Given the description of an element on the screen output the (x, y) to click on. 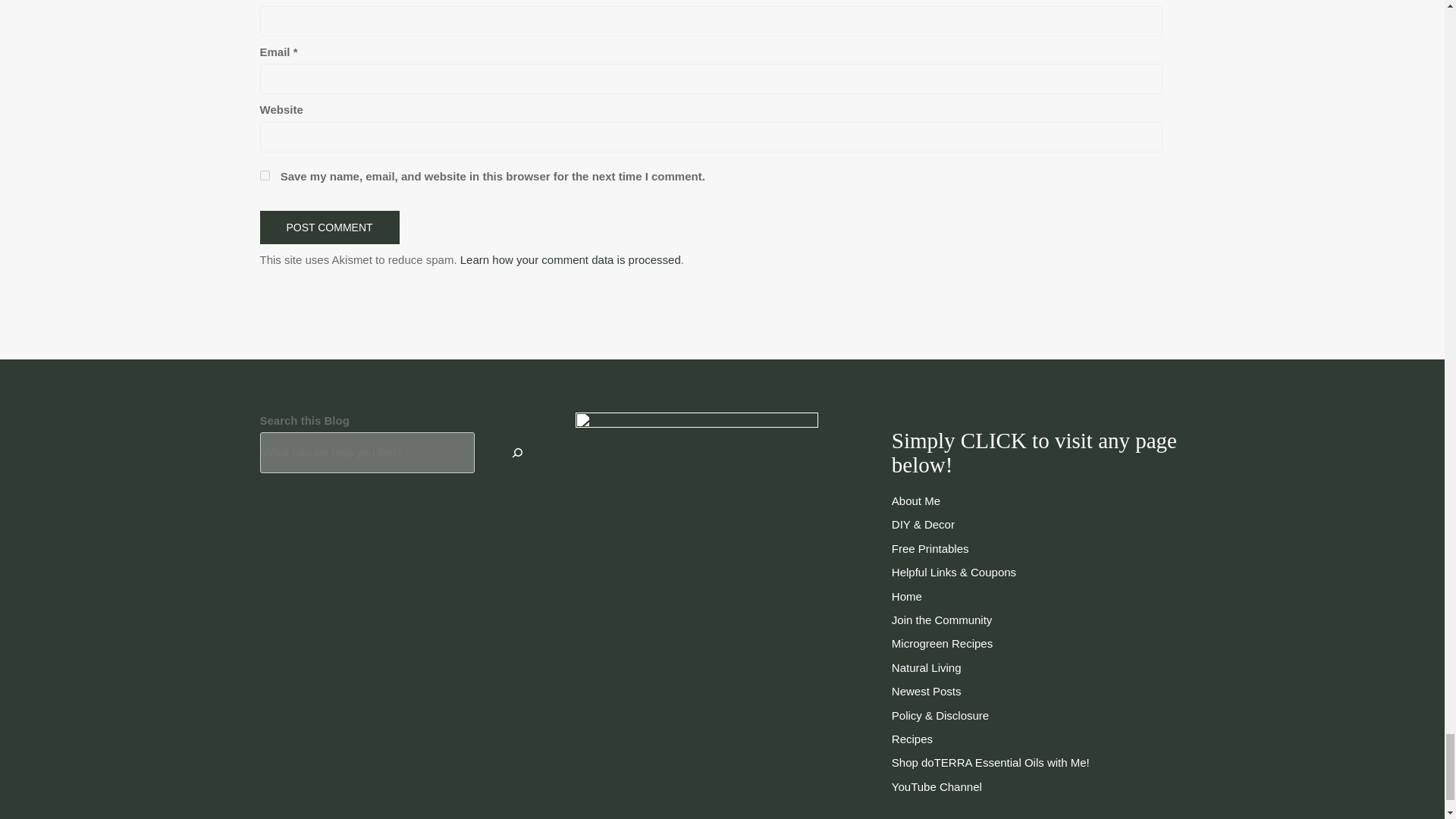
Post Comment (328, 227)
yes (264, 175)
